Given the description of an element on the screen output the (x, y) to click on. 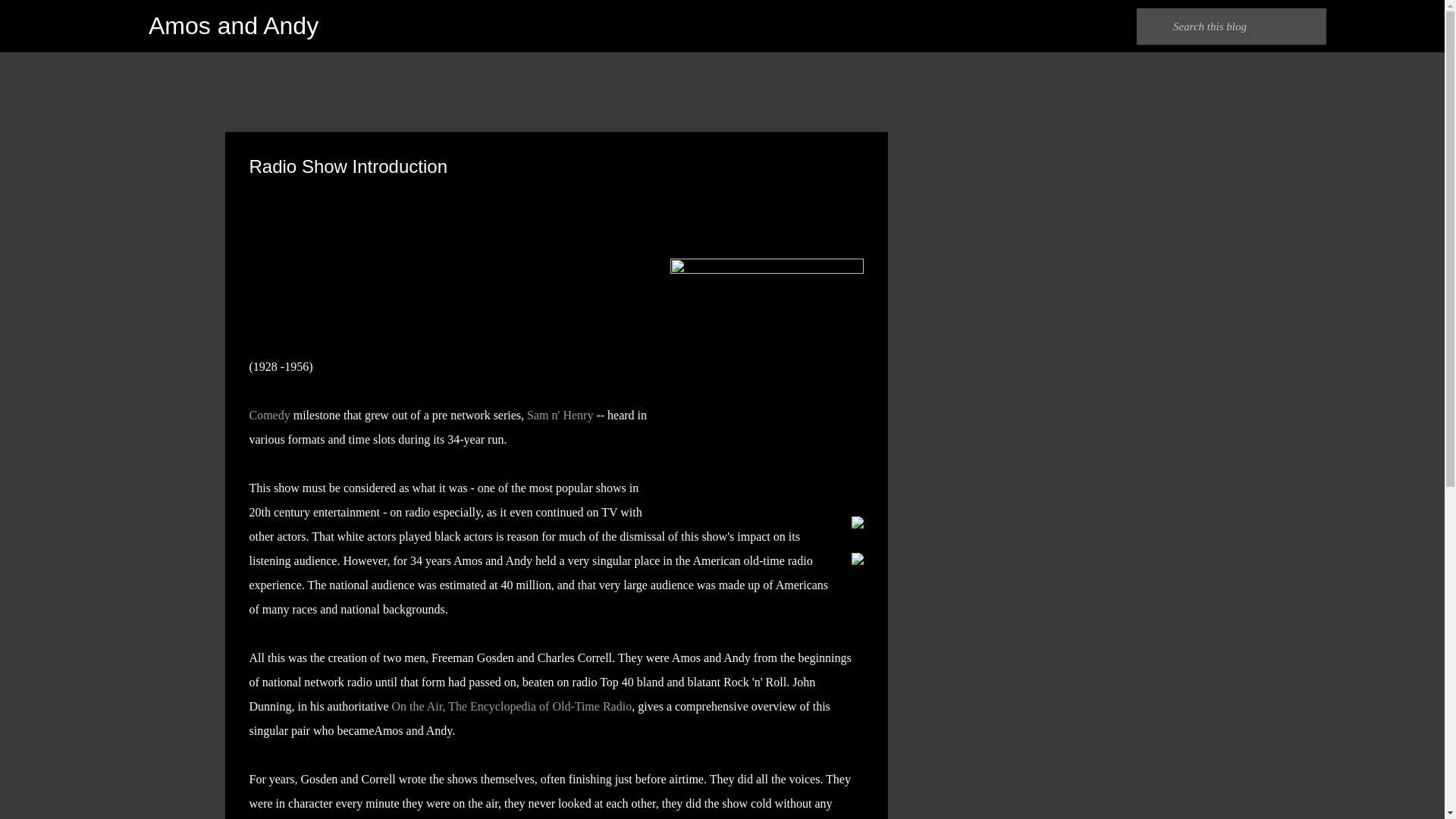
permanent link (383, 184)
Amos and Andy (233, 25)
September 25, 2012 (383, 184)
Sam n' Henry (559, 414)
On the Air, The Encyclopedia of Old-Time Radio (511, 706)
Comedy (268, 414)
author profile (310, 184)
Amos n Andy (310, 184)
